Given the description of an element on the screen output the (x, y) to click on. 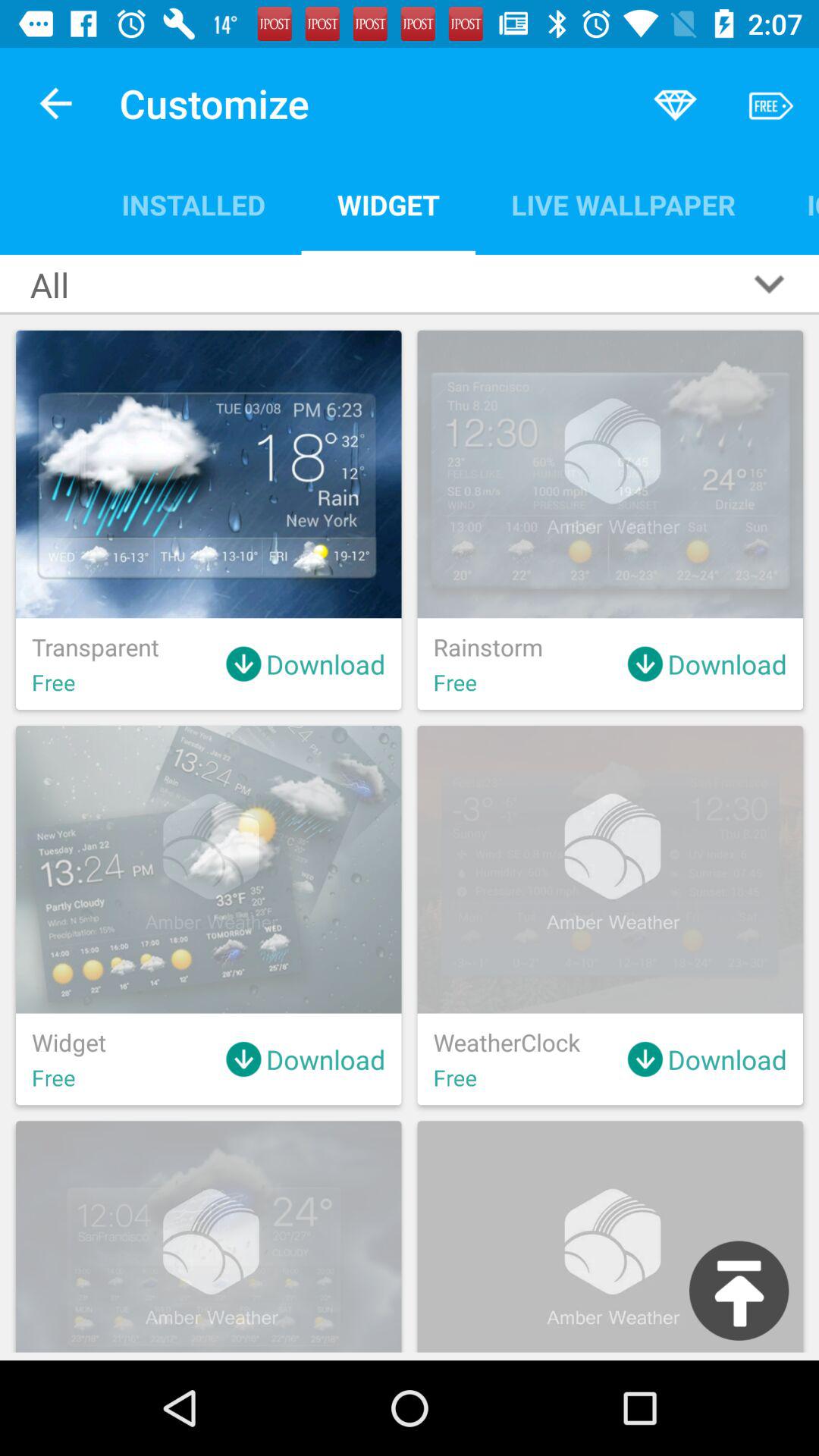
tap the icon next to icon set icon (623, 204)
